Given the description of an element on the screen output the (x, y) to click on. 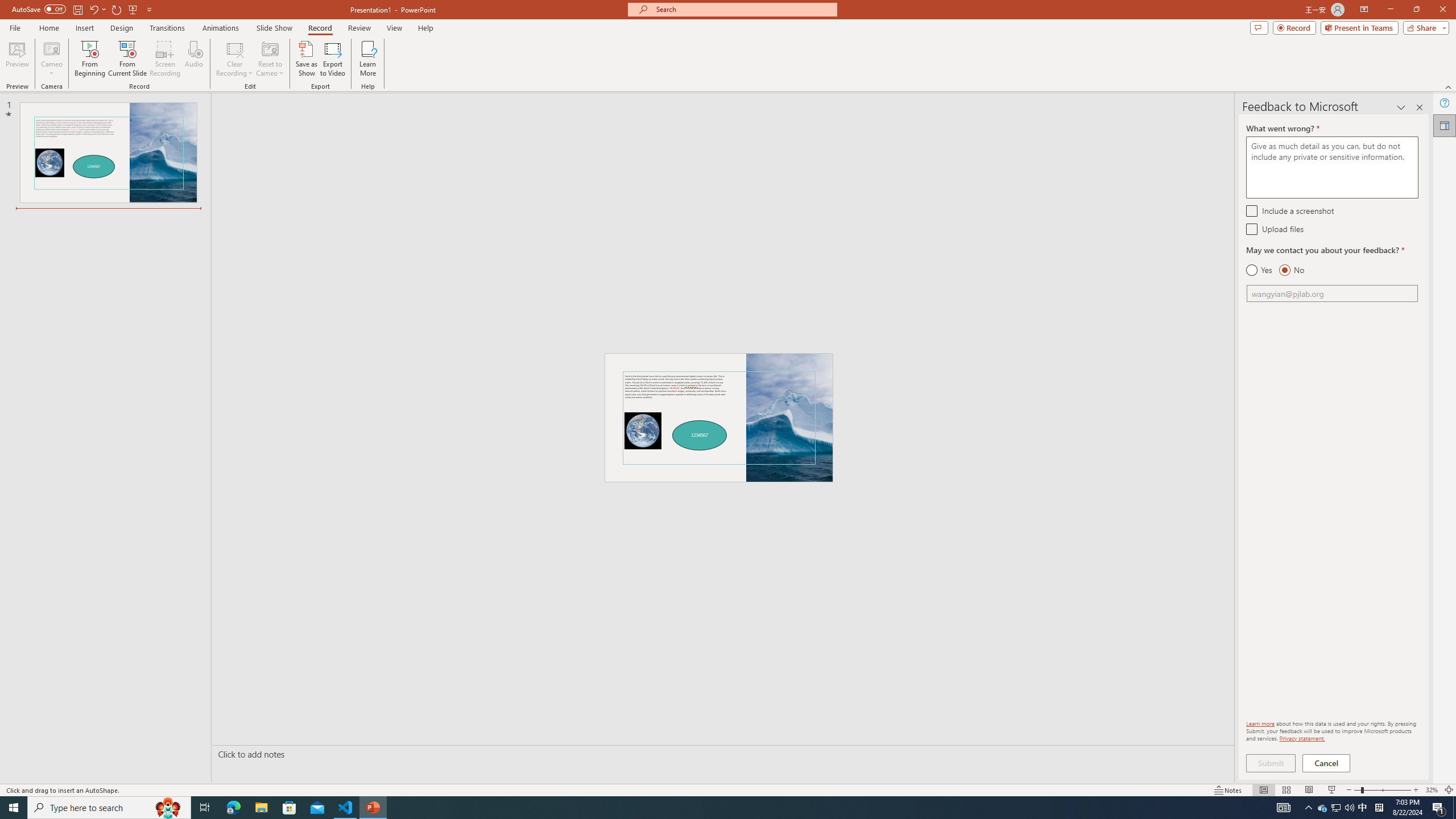
Record (1294, 27)
Task Pane Options (1400, 107)
Normal (1263, 790)
Zoom 32% (1431, 790)
Insert (83, 28)
Ribbon Display Options (1364, 9)
Close pane (1419, 107)
More Options (51, 68)
Save (77, 9)
Class: MsoCommandBar (728, 789)
Feedback to Microsoft (1444, 125)
Collapse the Ribbon (1448, 86)
Slide Show (273, 28)
What went wrong? * (1332, 167)
